Given the description of an element on the screen output the (x, y) to click on. 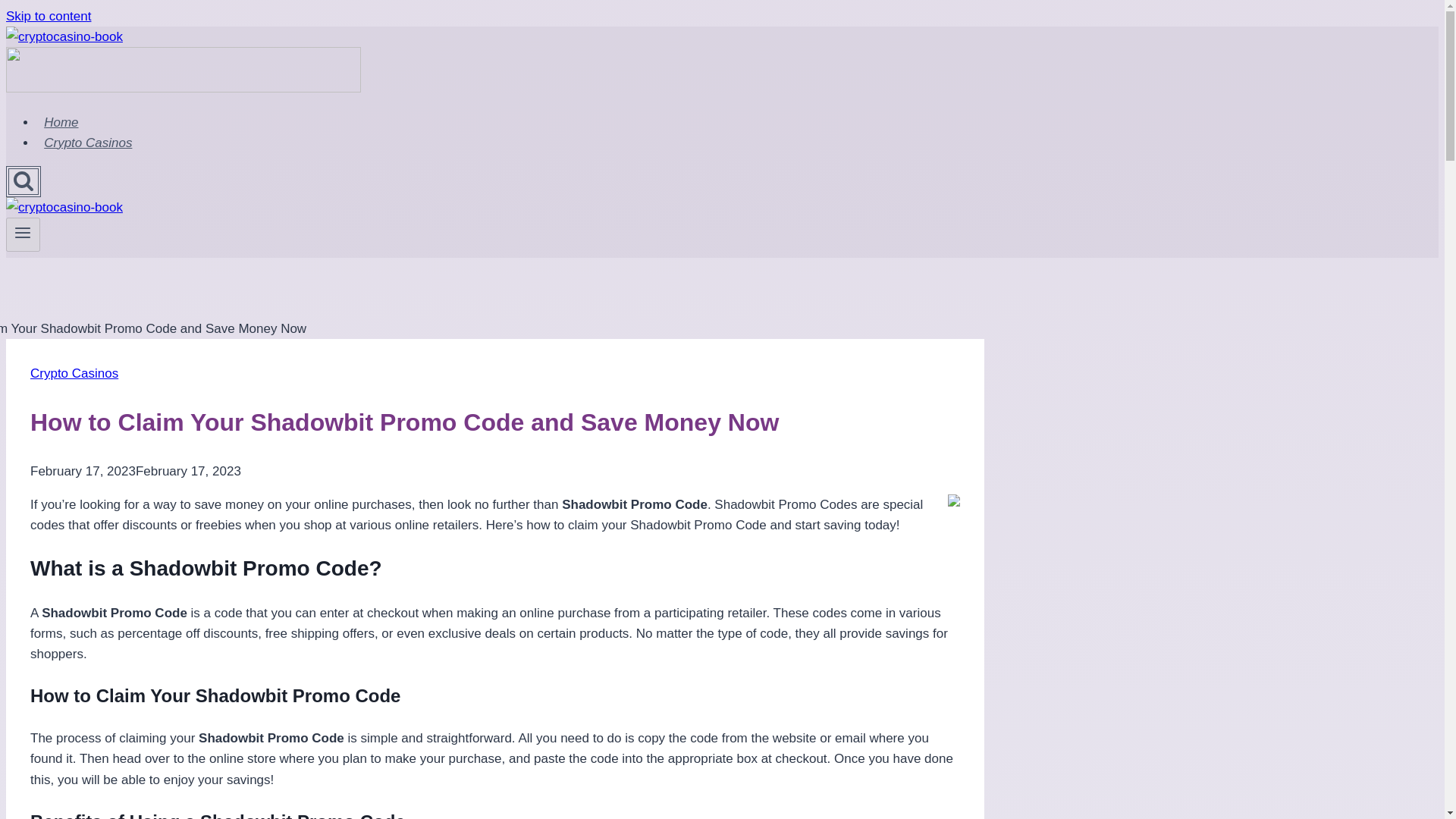
Crypto Casinos (73, 373)
Search (23, 179)
Toggle Menu (22, 232)
Toggle Menu (22, 233)
Search (22, 181)
Crypto Casinos (87, 142)
Skip to content (47, 16)
Home (60, 122)
Skip to content (47, 16)
